Given the description of an element on the screen output the (x, y) to click on. 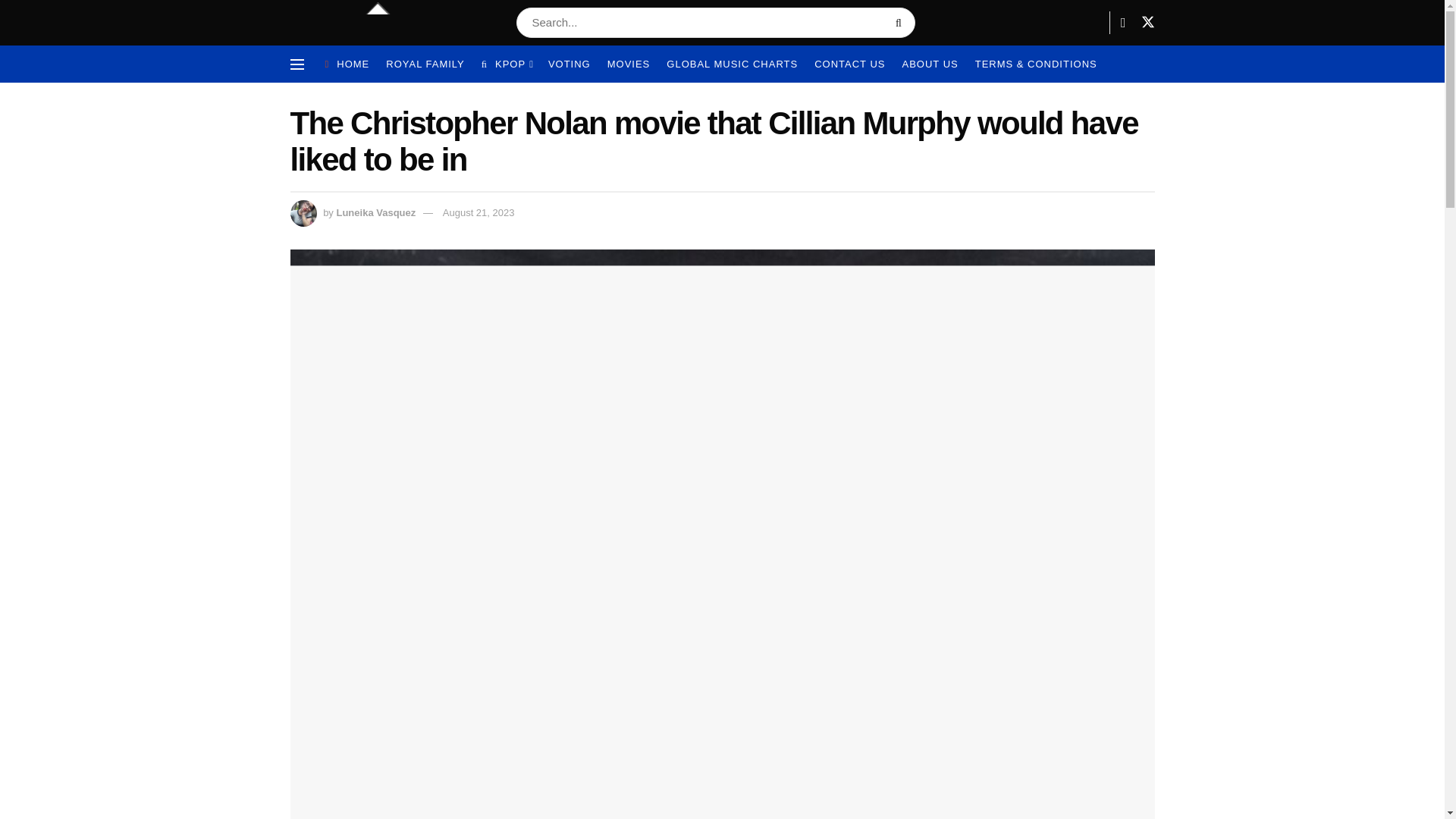
KPOP (506, 63)
HOME (346, 63)
ROYAL FAMILY (424, 63)
GLOBAL MUSIC CHARTS (731, 63)
ABOUT US (929, 63)
CONTACT US (849, 63)
VOTING (569, 63)
Luneika Vasquez (375, 212)
MOVIES (628, 63)
August 21, 2023 (478, 212)
